Given the description of an element on the screen output the (x, y) to click on. 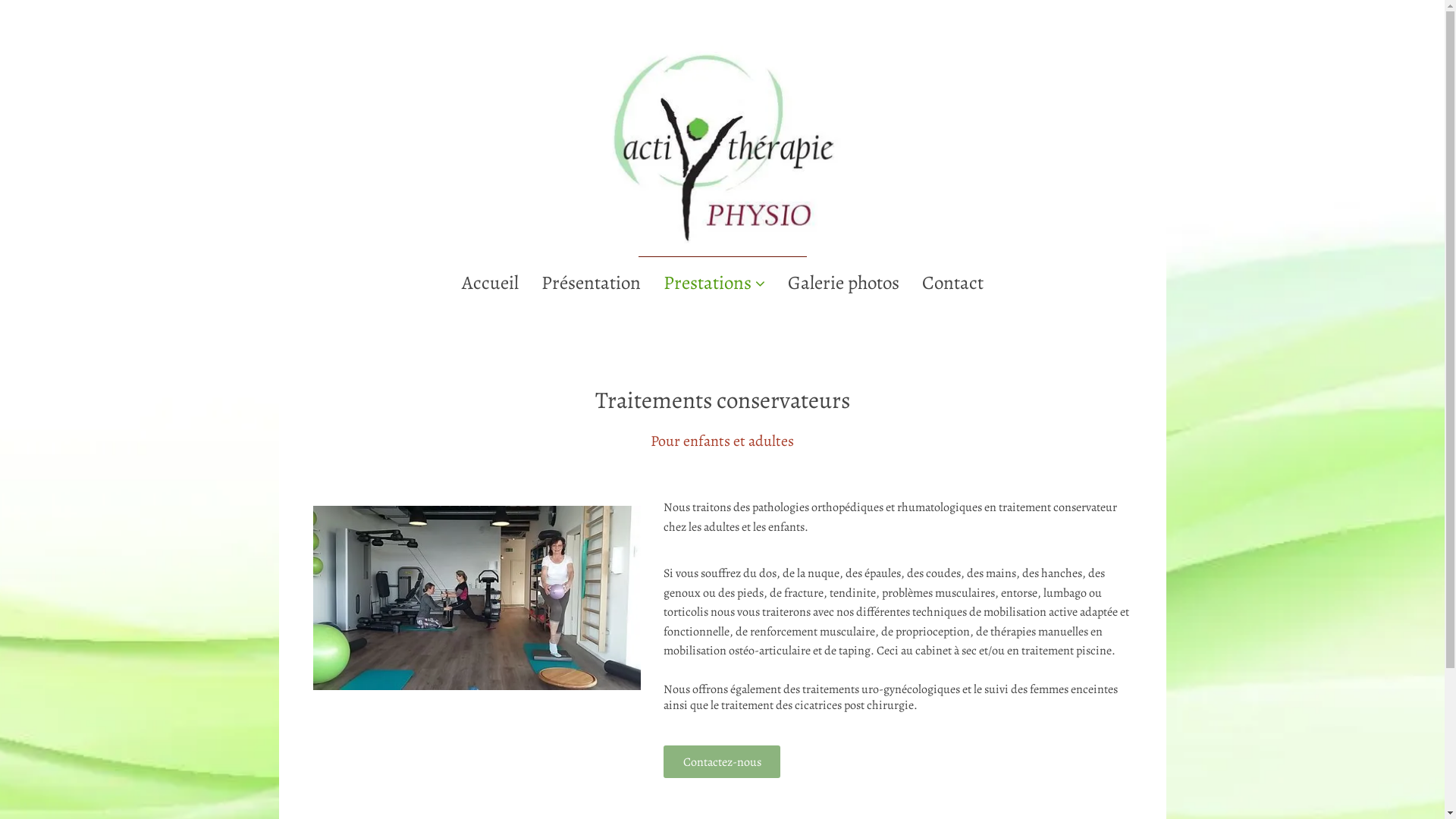
Contact Element type: text (952, 282)
Galerie photos Element type: text (842, 282)
Prestations Element type: text (713, 282)
Contactez-nous Element type: text (721, 761)
Accueil Element type: text (489, 282)
